Given the description of an element on the screen output the (x, y) to click on. 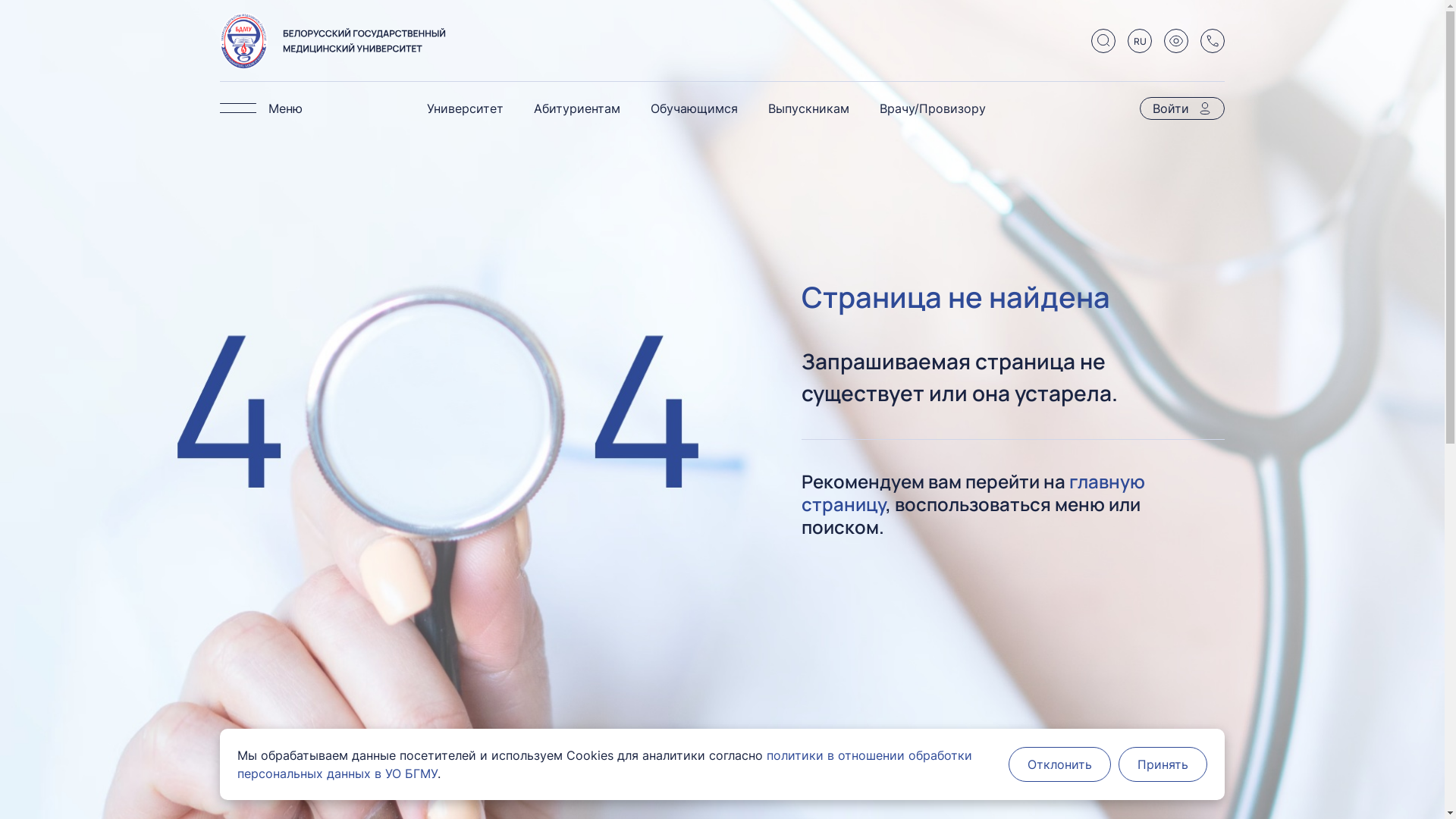
RU Element type: text (1139, 40)
logo Element type: hover (333, 40)
